Given the description of an element on the screen output the (x, y) to click on. 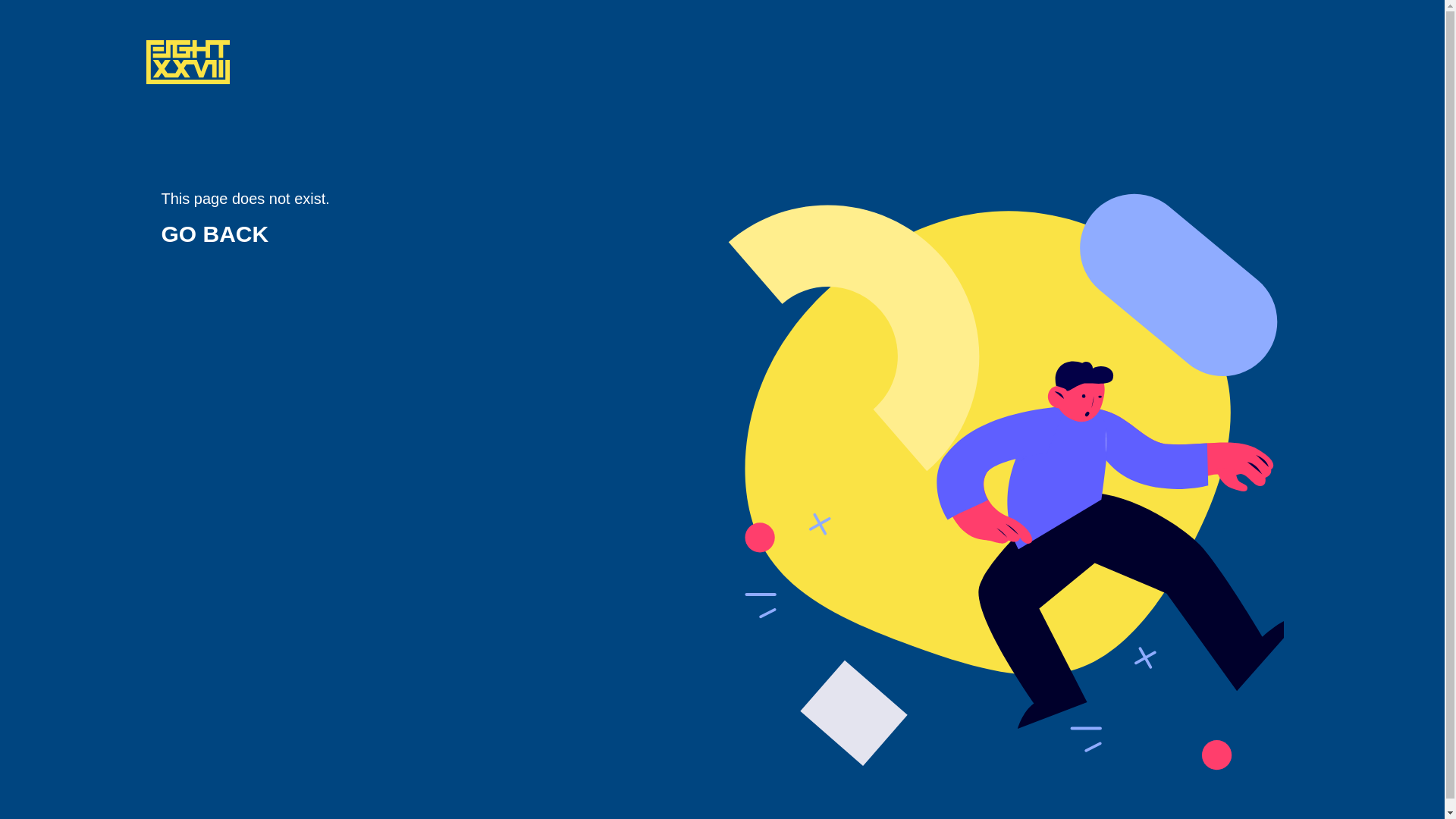
GO BACK Element type: text (214, 233)
